Given the description of an element on the screen output the (x, y) to click on. 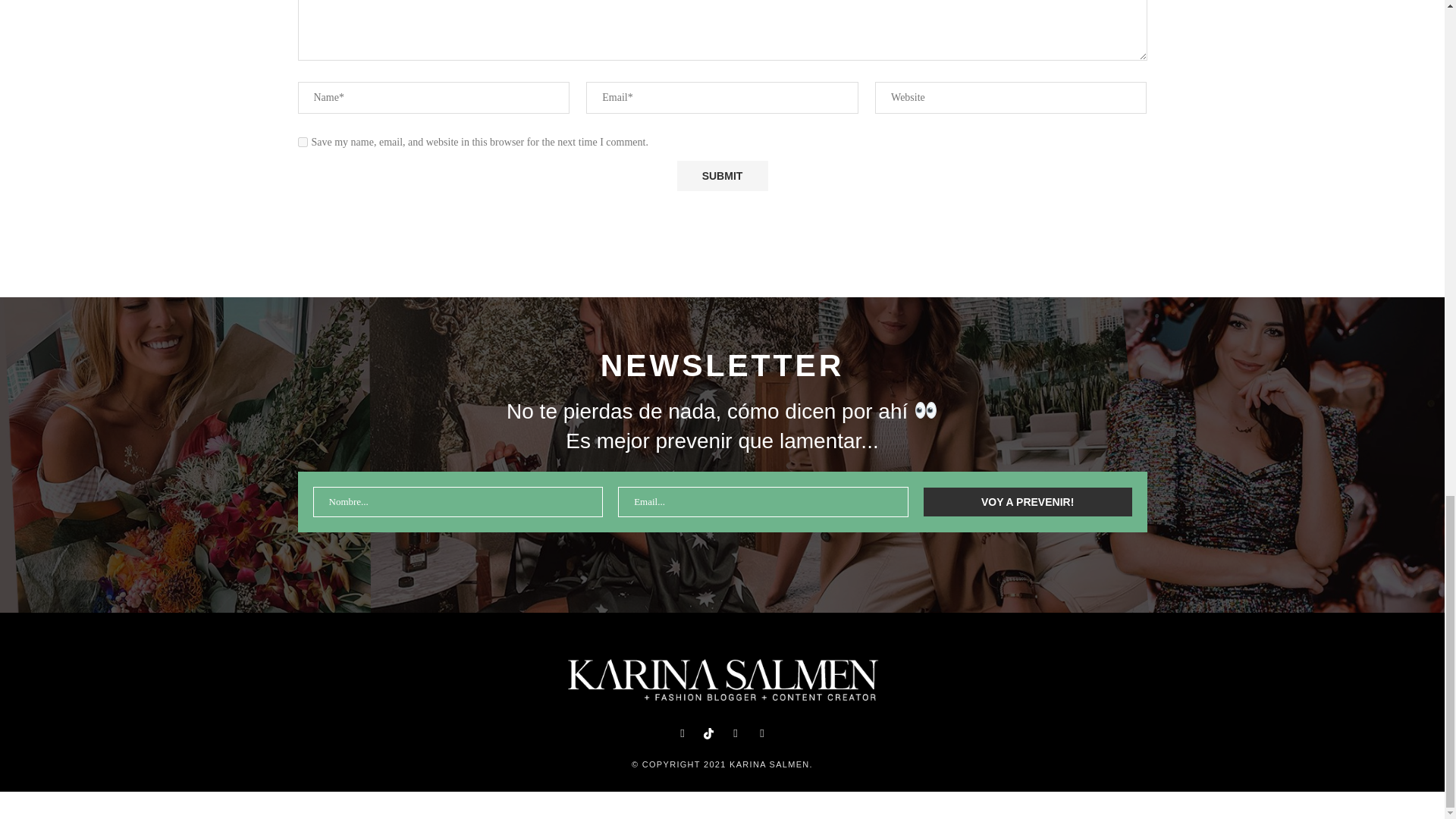
yes (302, 142)
Submit (722, 175)
Voy a prevenir! (1027, 501)
